Given the description of an element on the screen output the (x, y) to click on. 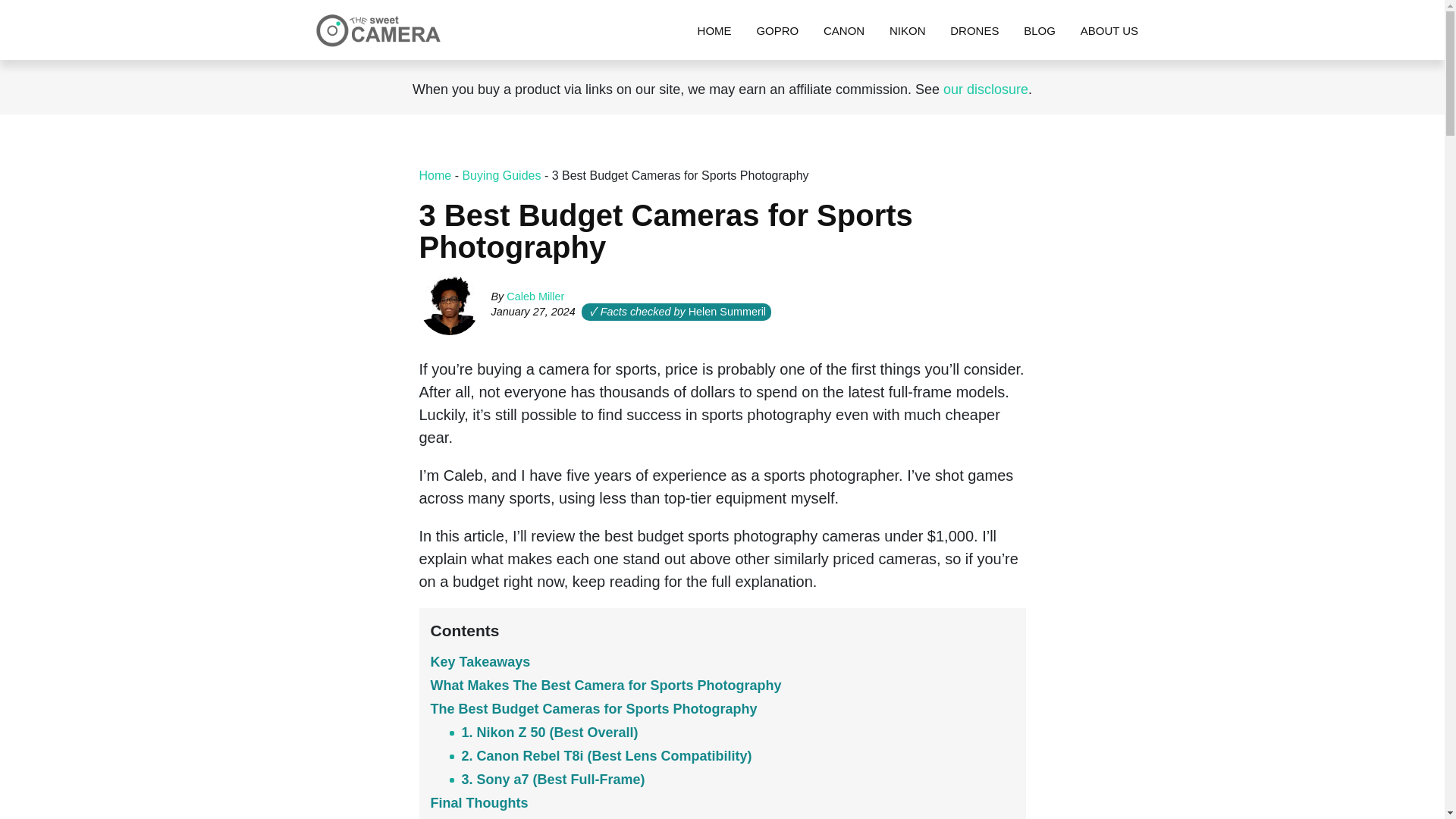
Home (714, 30)
Key Takeaways (480, 661)
GOPRO (777, 30)
The Best Budget Cameras for Sports Photography (593, 708)
HOME (714, 30)
Buying Guides (500, 174)
NIKON (907, 30)
Caleb Miller (535, 296)
Home (435, 174)
BLOG (1039, 30)
